Given the description of an element on the screen output the (x, y) to click on. 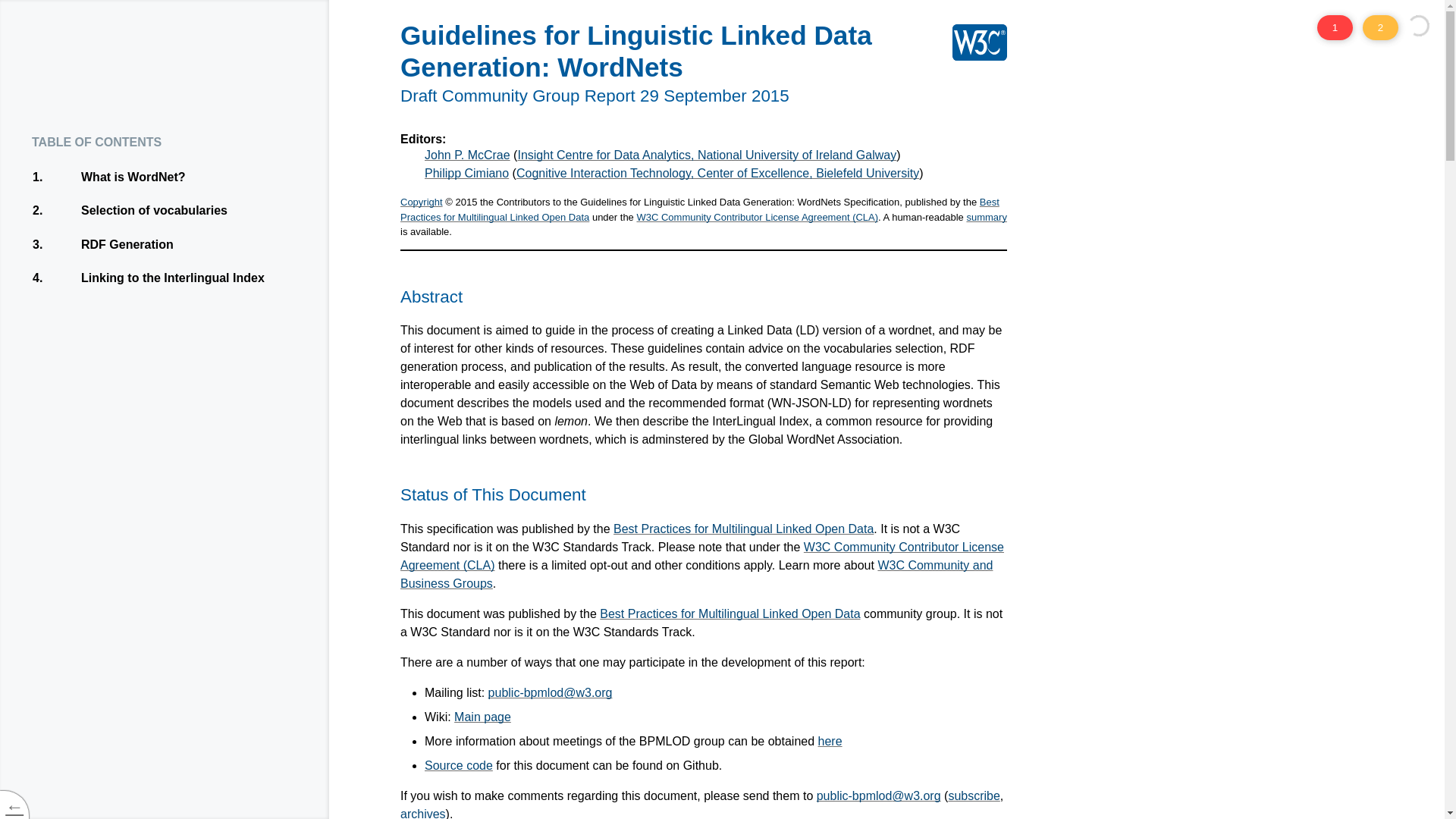
here (830, 740)
Source code (198, 277)
archives (459, 765)
John P. McCrae (422, 813)
Best Practices for Multilingual Linked Open Data (198, 210)
Best Practices for Multilingual Linked Open Data (468, 154)
Main page (198, 243)
Copyright (729, 613)
Philipp Cimiano (742, 528)
